Given the description of an element on the screen output the (x, y) to click on. 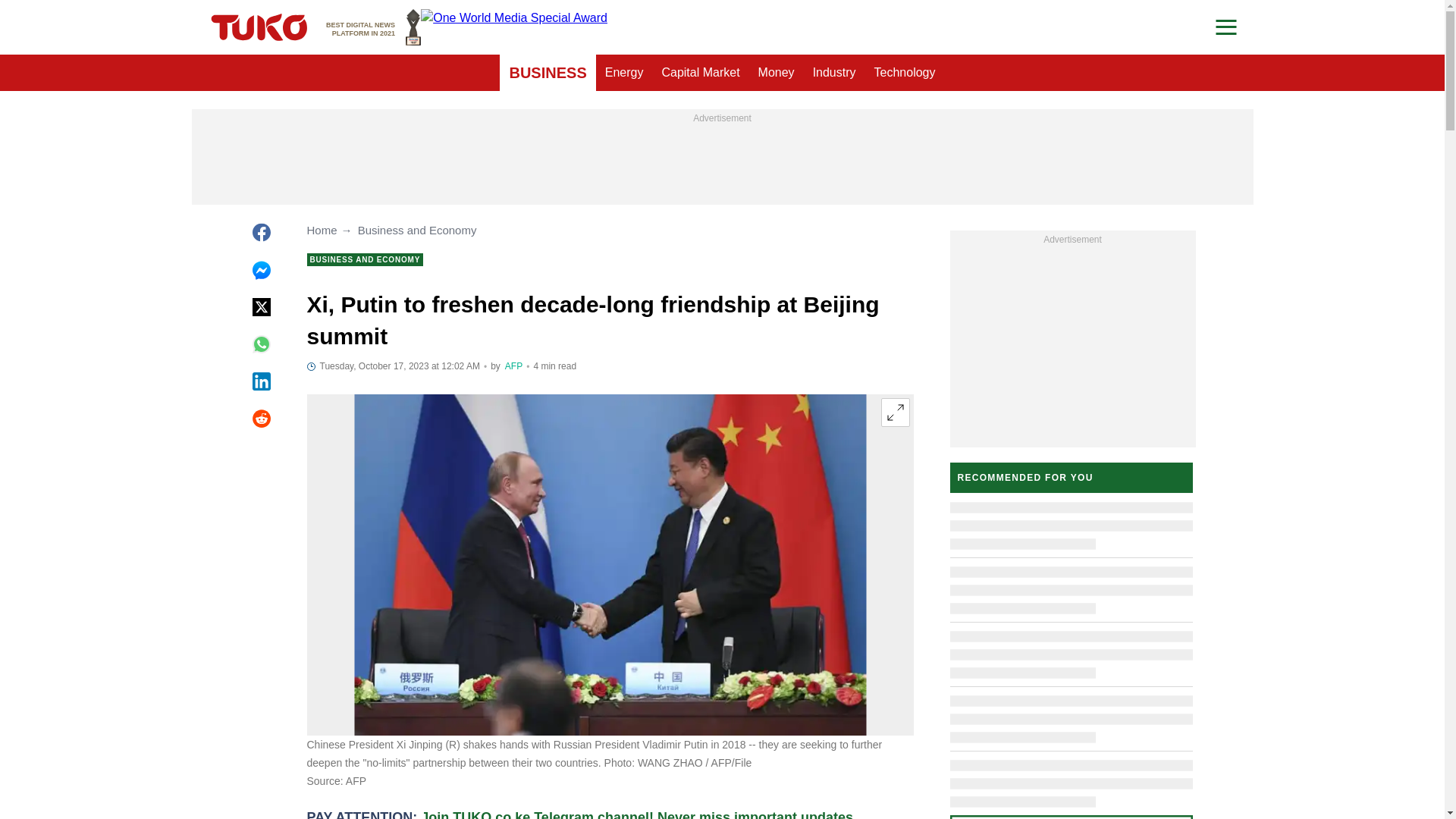
Energy (623, 72)
Expand image (895, 412)
BUSINESS (547, 72)
Author page (373, 27)
Money (513, 366)
Technology (776, 72)
Industry (904, 72)
Capital Market (833, 72)
